Given the description of an element on the screen output the (x, y) to click on. 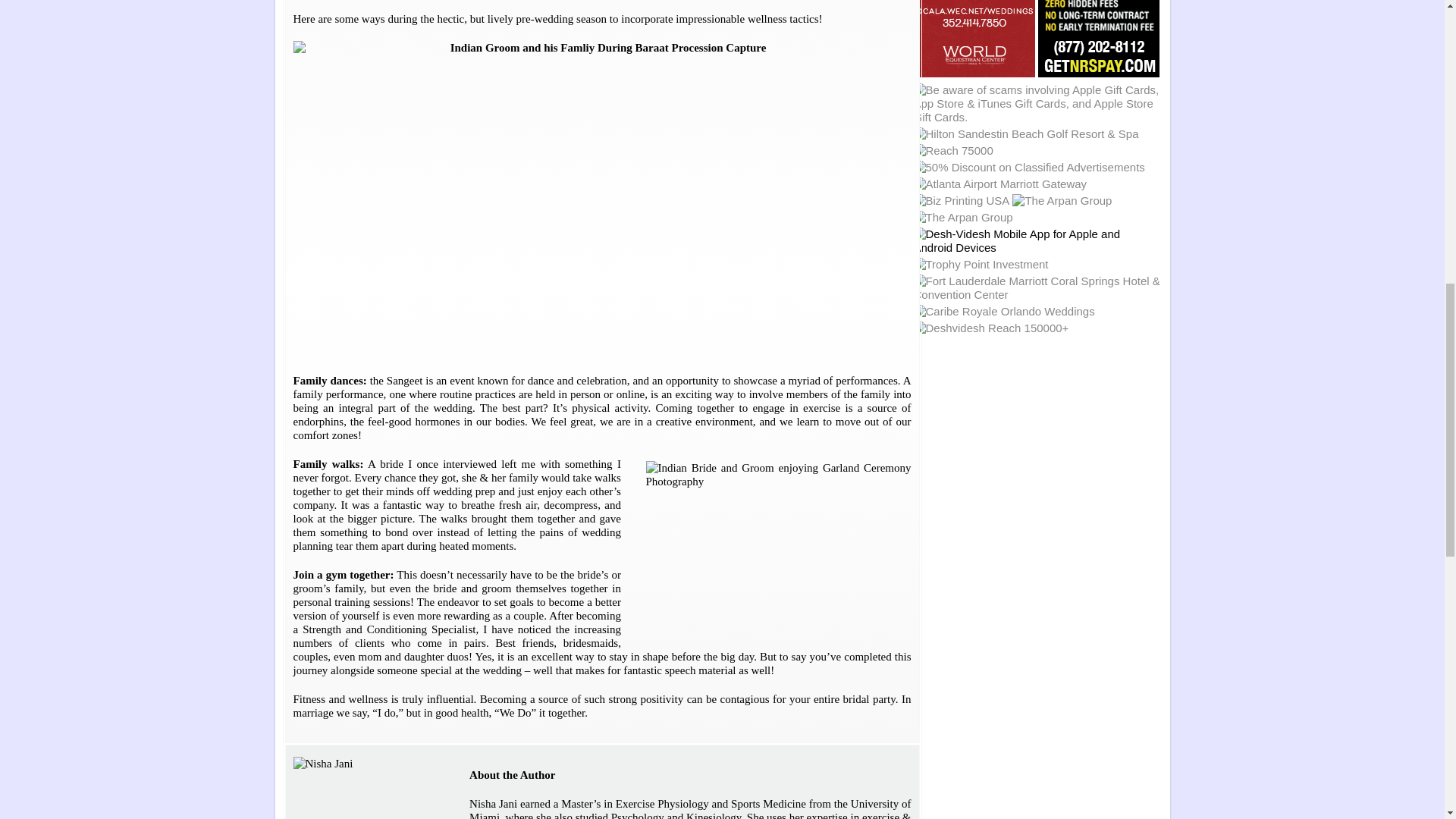
Indian Bride and Groom enjoying Garland Ceremony Photography (778, 545)
Nisha Jani  (368, 787)
